Given the description of an element on the screen output the (x, y) to click on. 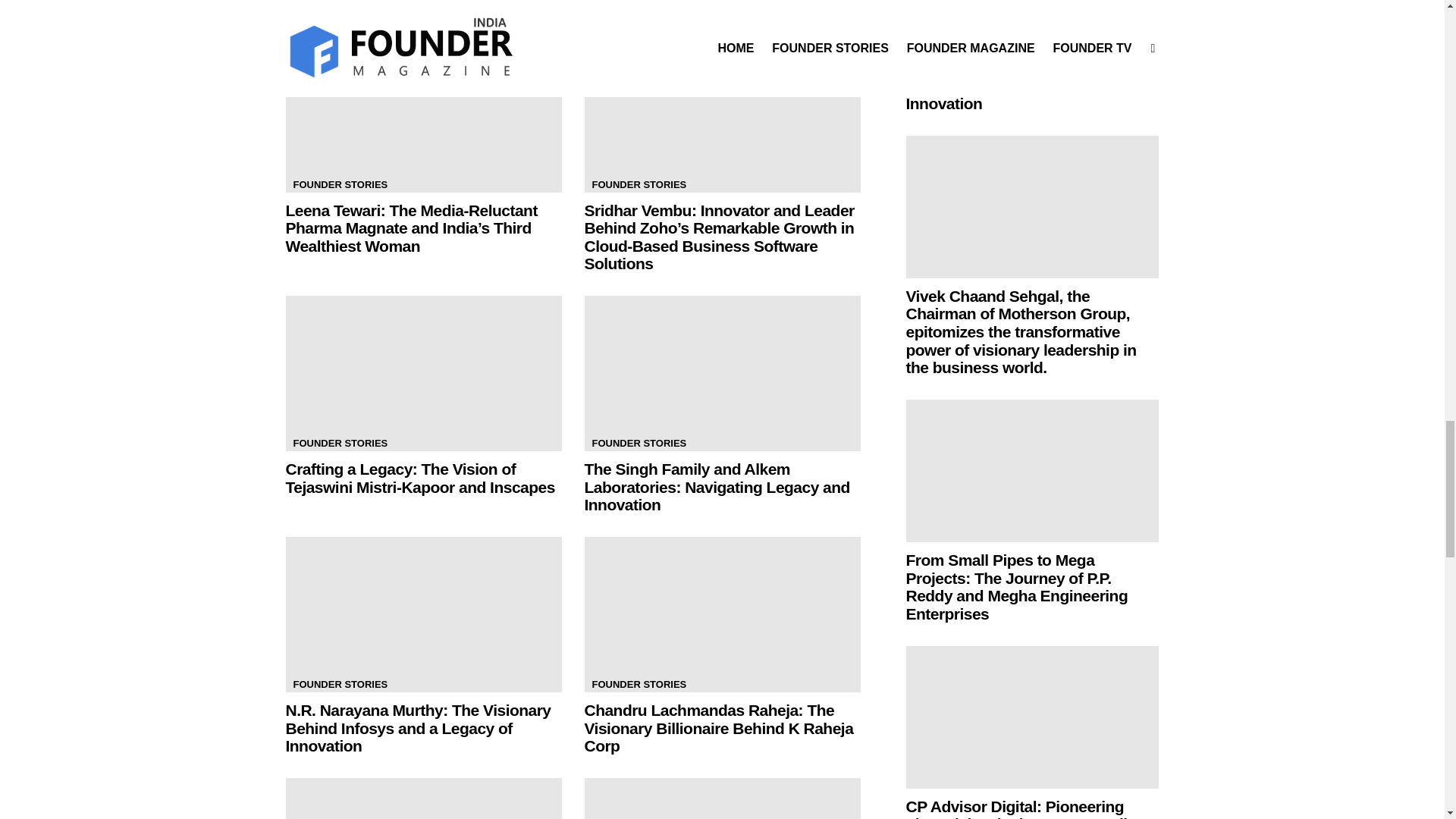
FOUNDER STORIES (638, 443)
FOUNDER STORIES (339, 184)
FOUNDER STORIES (339, 443)
FOUNDER STORIES (638, 184)
